Given the description of an element on the screen output the (x, y) to click on. 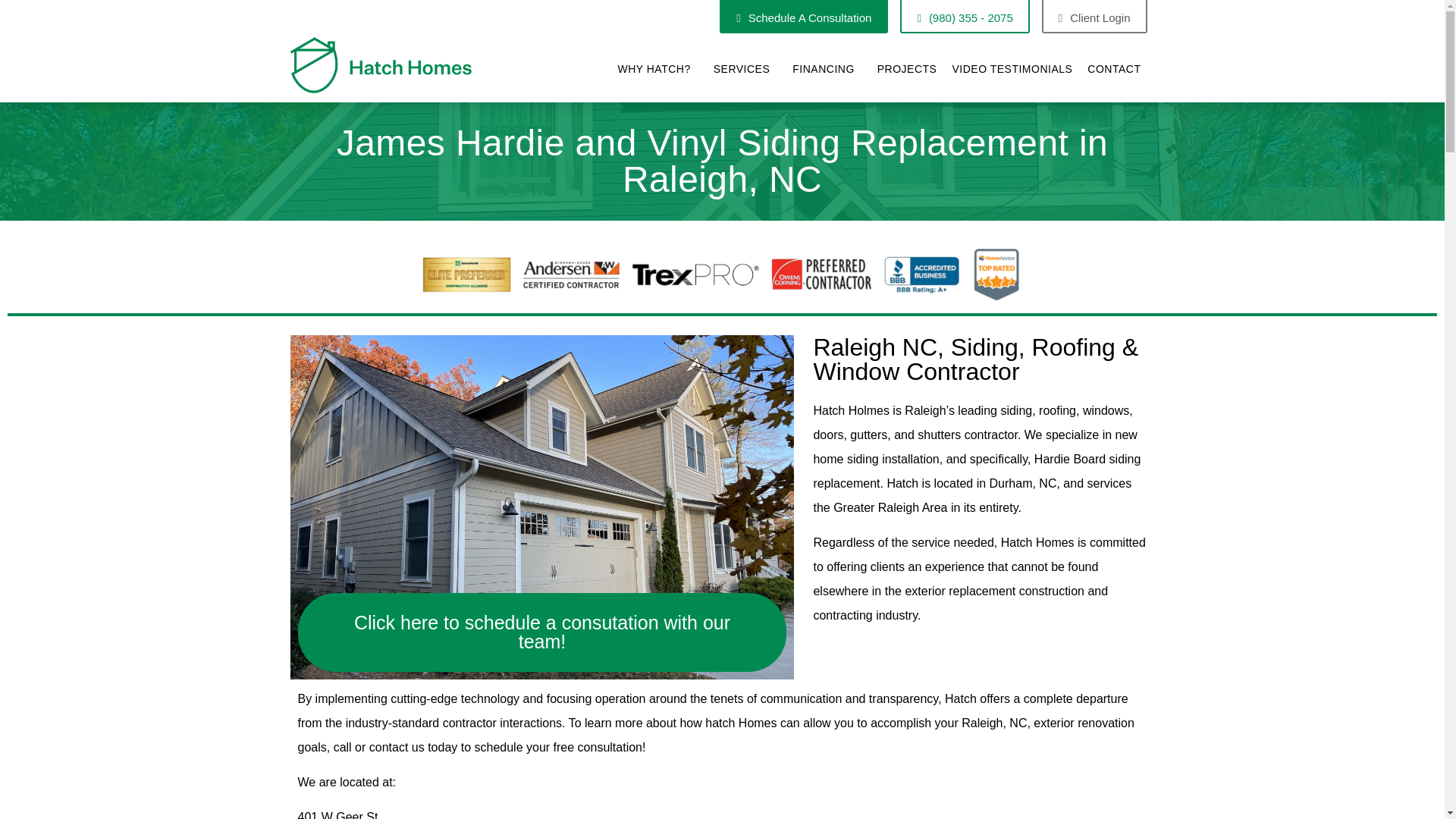
Schedule A Consultation (803, 16)
WHY HATCH? (657, 68)
Client Login (1094, 16)
SERVICES (746, 68)
